Given the description of an element on the screen output the (x, y) to click on. 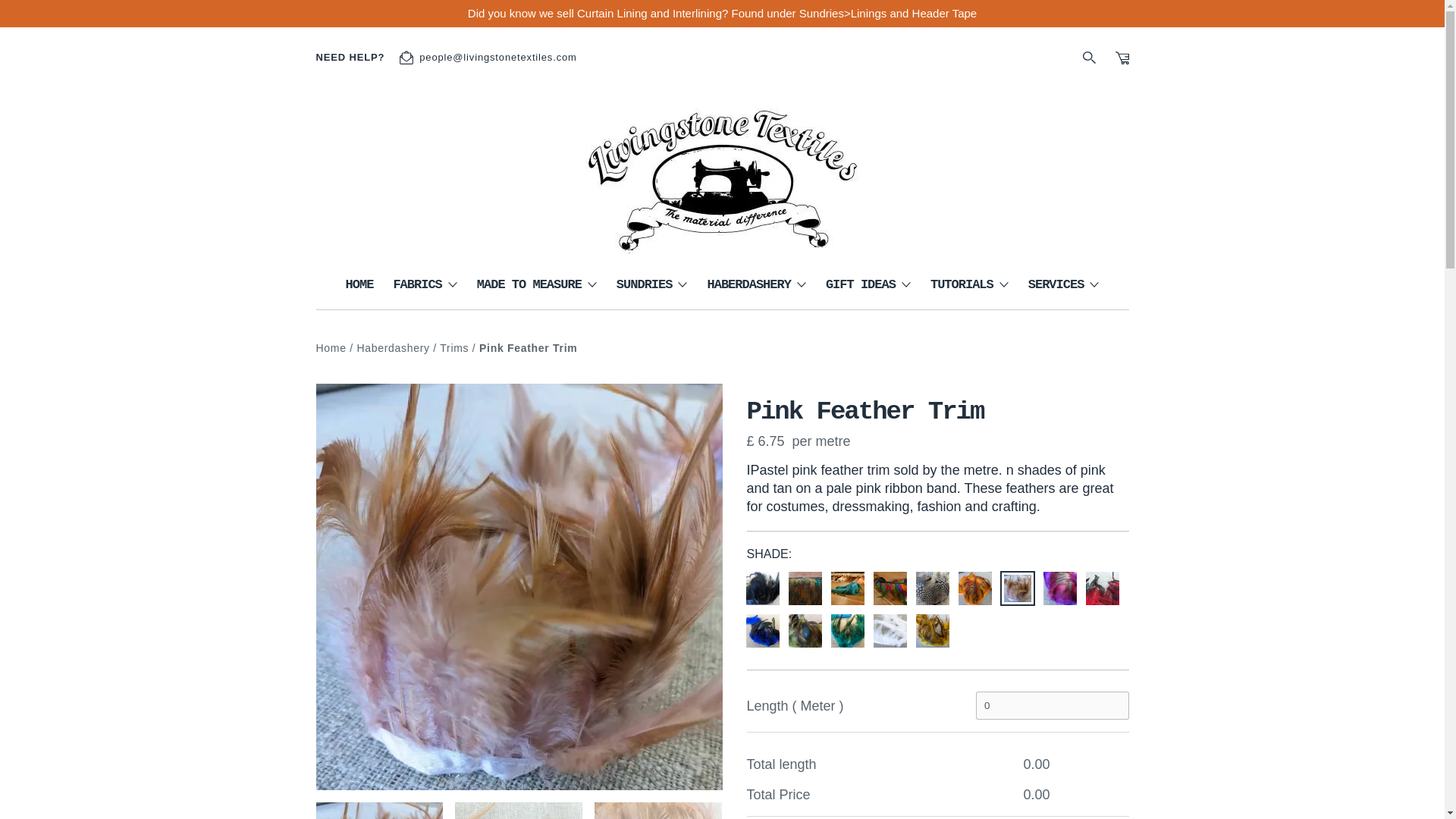
Red Feather Trim (1102, 588)
Logo-header (722, 171)
GIFT IDEAS (868, 291)
MADE TO MEASURE (536, 291)
Bright Feather Trim (805, 588)
TUTORIALS (969, 291)
SUNDRIES (651, 291)
Search (10, 10)
Gold Feather Trim (931, 630)
White Feather Trim (889, 630)
FABRICS (425, 291)
Black Feather Trim (761, 588)
Royal Blue Feather Trim (761, 630)
Purple Feather Trim (1059, 588)
0 (1052, 705)
